Given the description of an element on the screen output the (x, y) to click on. 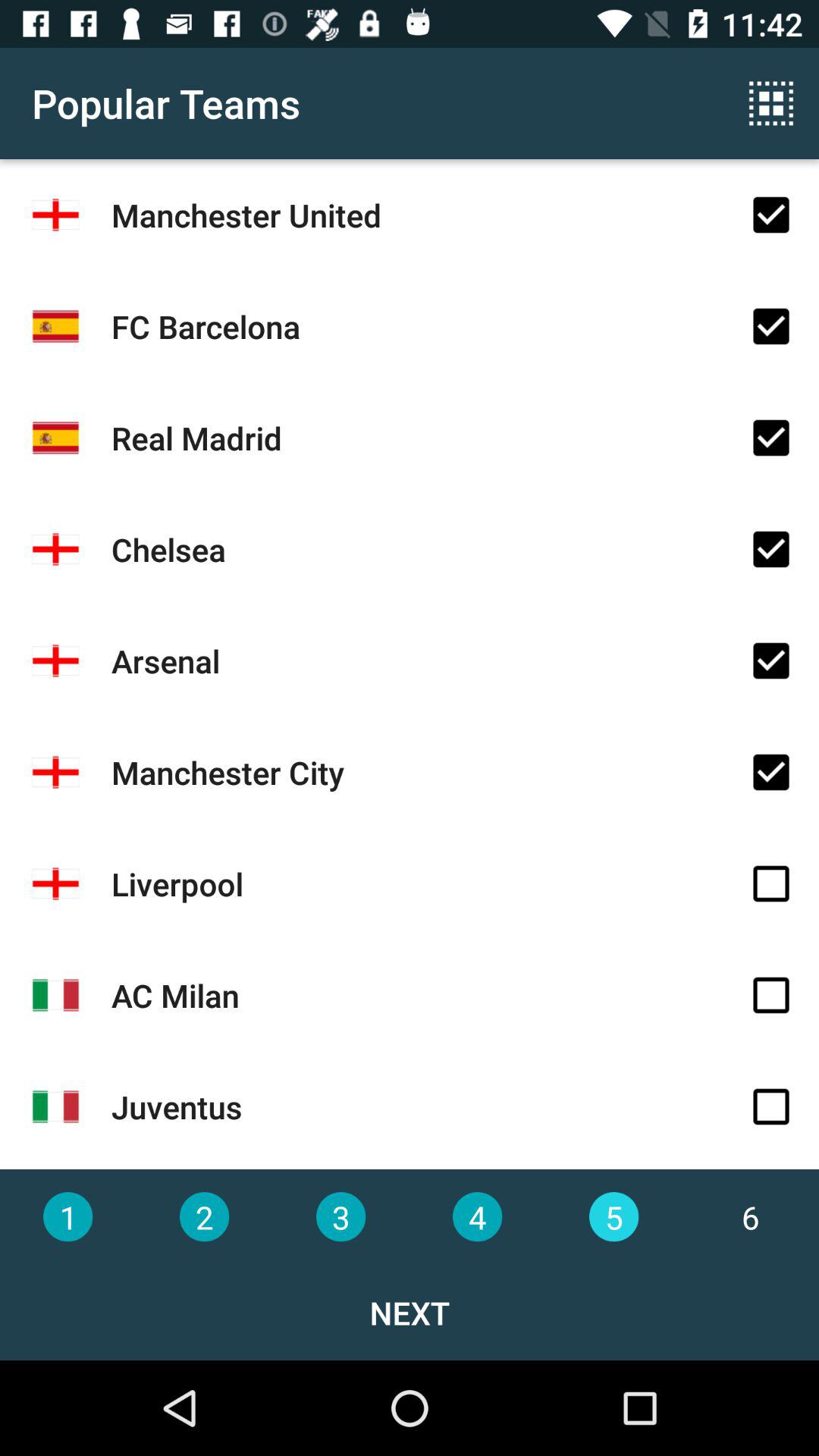
jump until the next (409, 1312)
